Given the description of an element on the screen output the (x, y) to click on. 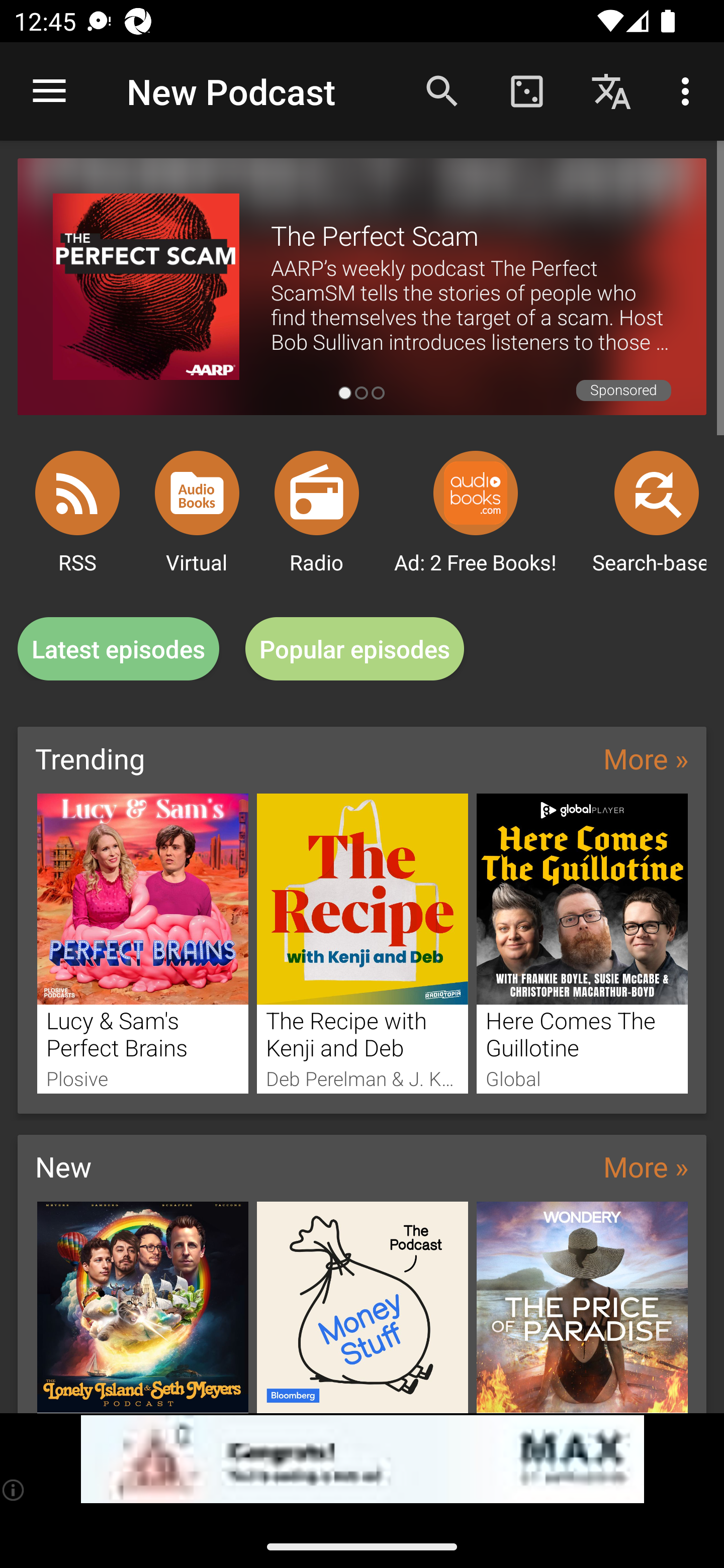
Open navigation sidebar (49, 91)
Search (442, 90)
Random pick (526, 90)
Podcast languages (611, 90)
More options (688, 90)
RSS (77, 492)
Virtual (196, 492)
Radio (316, 492)
Search-based (656, 492)
Latest episodes (118, 648)
Popular episodes (354, 648)
More » (645, 757)
Lucy & Sam's Perfect Brains Plosive (142, 942)
Here Comes The Guillotine Global (581, 942)
More » (645, 1166)
The Lonely Island and Seth Meyers Podcast (142, 1306)
Money Stuff: The Podcast (362, 1306)
The Price of Paradise (581, 1306)
app-monetization (362, 1459)
(i) (14, 1489)
